Given the description of an element on the screen output the (x, y) to click on. 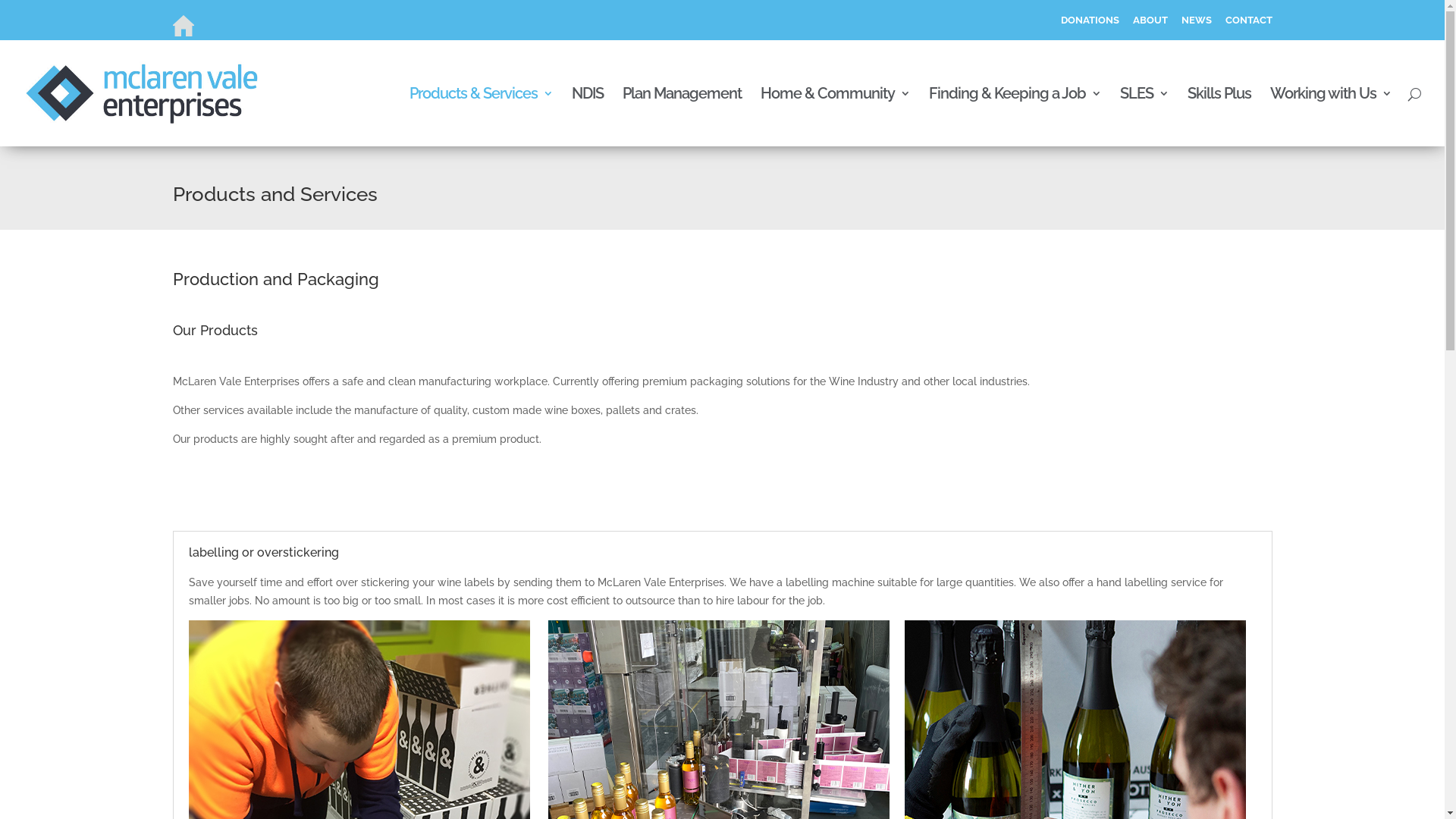
Working with Us Element type: text (1330, 116)
Skills Plus Element type: text (1219, 116)
CONTACT Element type: text (1248, 23)
SLES Element type: text (1144, 116)
DONATIONS Element type: text (1089, 23)
NDIS Element type: text (587, 116)
Finding & Keeping a Job Element type: text (1014, 116)
NEWS Element type: text (1196, 23)
ABOUT Element type: text (1149, 23)
Products & Services Element type: text (480, 116)
Home & Community Element type: text (835, 116)
Plan Management Element type: text (681, 116)
